Given the description of an element on the screen output the (x, y) to click on. 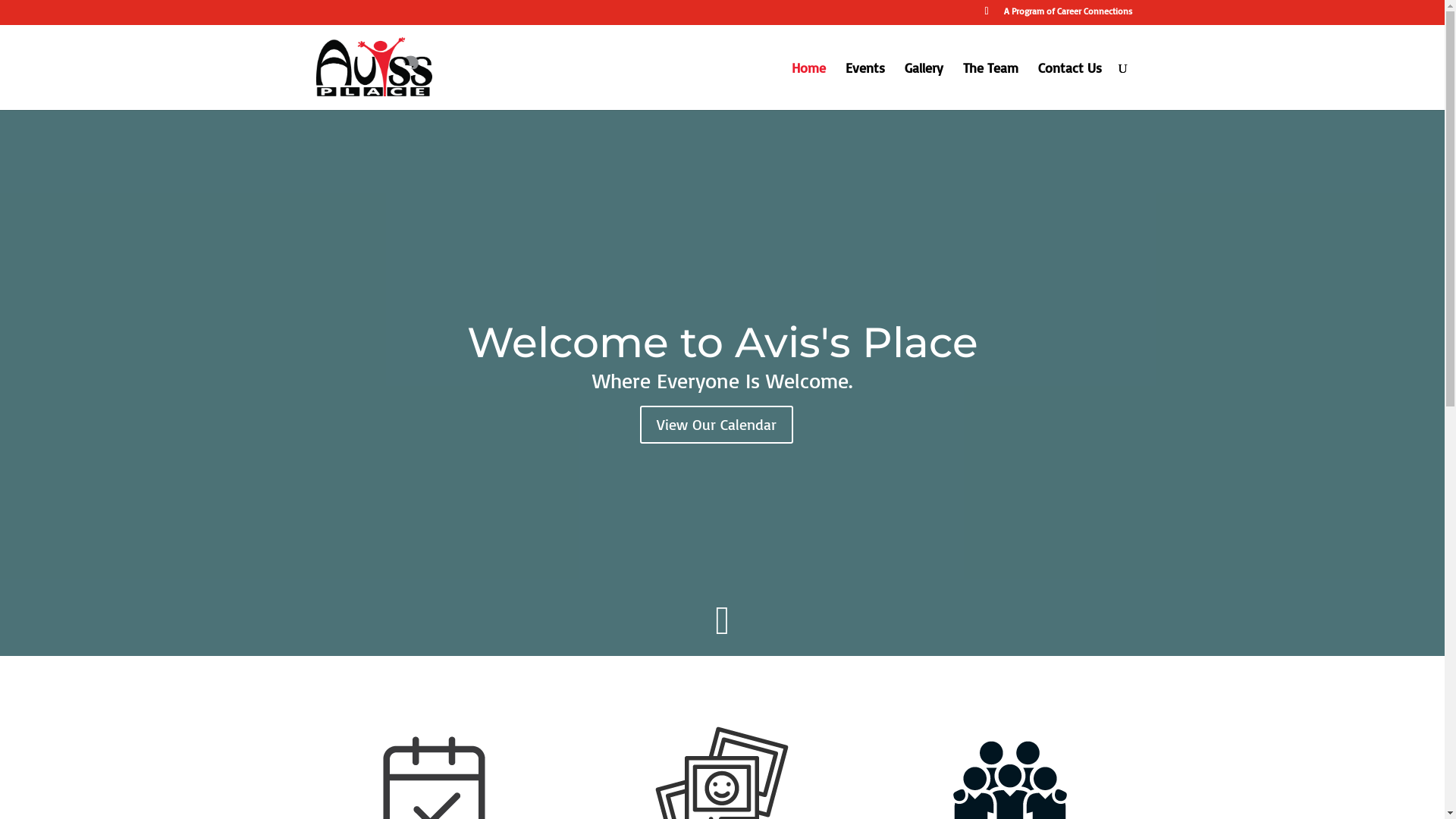
A Program of Career Connections Element type: text (1068, 14)
Home Element type: text (808, 85)
Events Element type: text (864, 85)
The Team Element type: text (990, 85)
View Our Calendar Element type: text (716, 423)
Gallery Element type: text (922, 85)
Contact Us Element type: text (1069, 85)
